Given the description of an element on the screen output the (x, y) to click on. 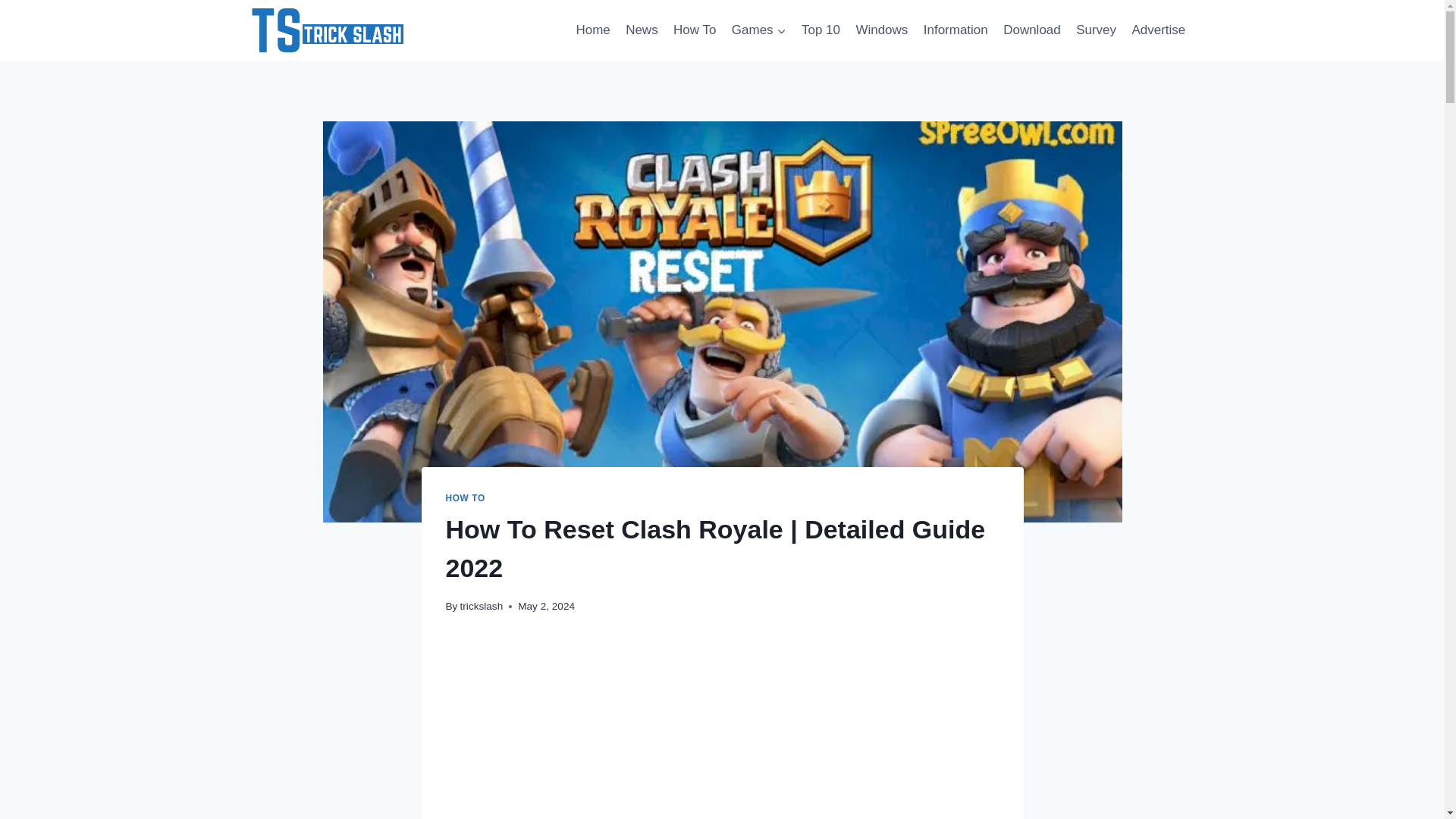
HOW TO (464, 498)
Windows (881, 30)
trickslash (481, 605)
Games (758, 30)
Advertise (1158, 30)
Survey (1096, 30)
News (641, 30)
Home (592, 30)
Information (955, 30)
Top 10 (820, 30)
Advertisement (721, 729)
Download (1031, 30)
How To (694, 30)
